Given the description of an element on the screen output the (x, y) to click on. 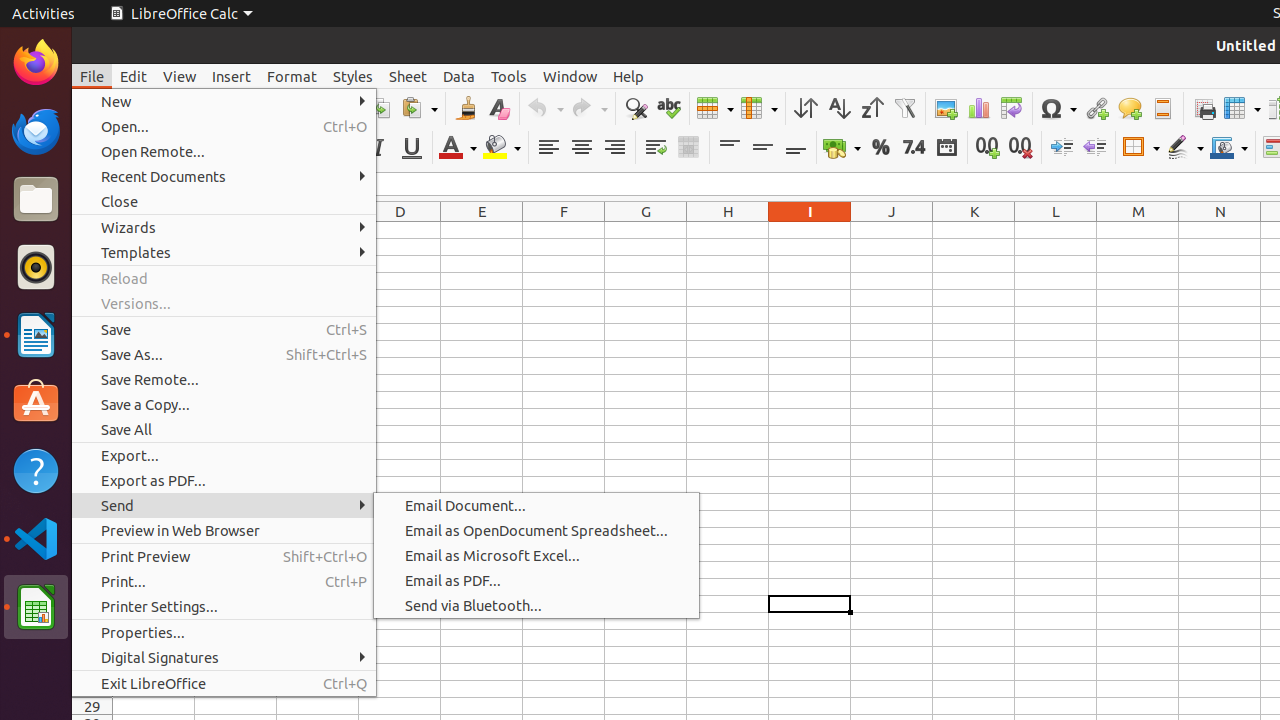
Templates Element type: menu (224, 252)
Activities Element type: label (43, 13)
K1 Element type: table-cell (974, 230)
Hyperlink Element type: toggle-button (1096, 108)
LibreOffice Calc Element type: menu (181, 13)
